Given the description of an element on the screen output the (x, y) to click on. 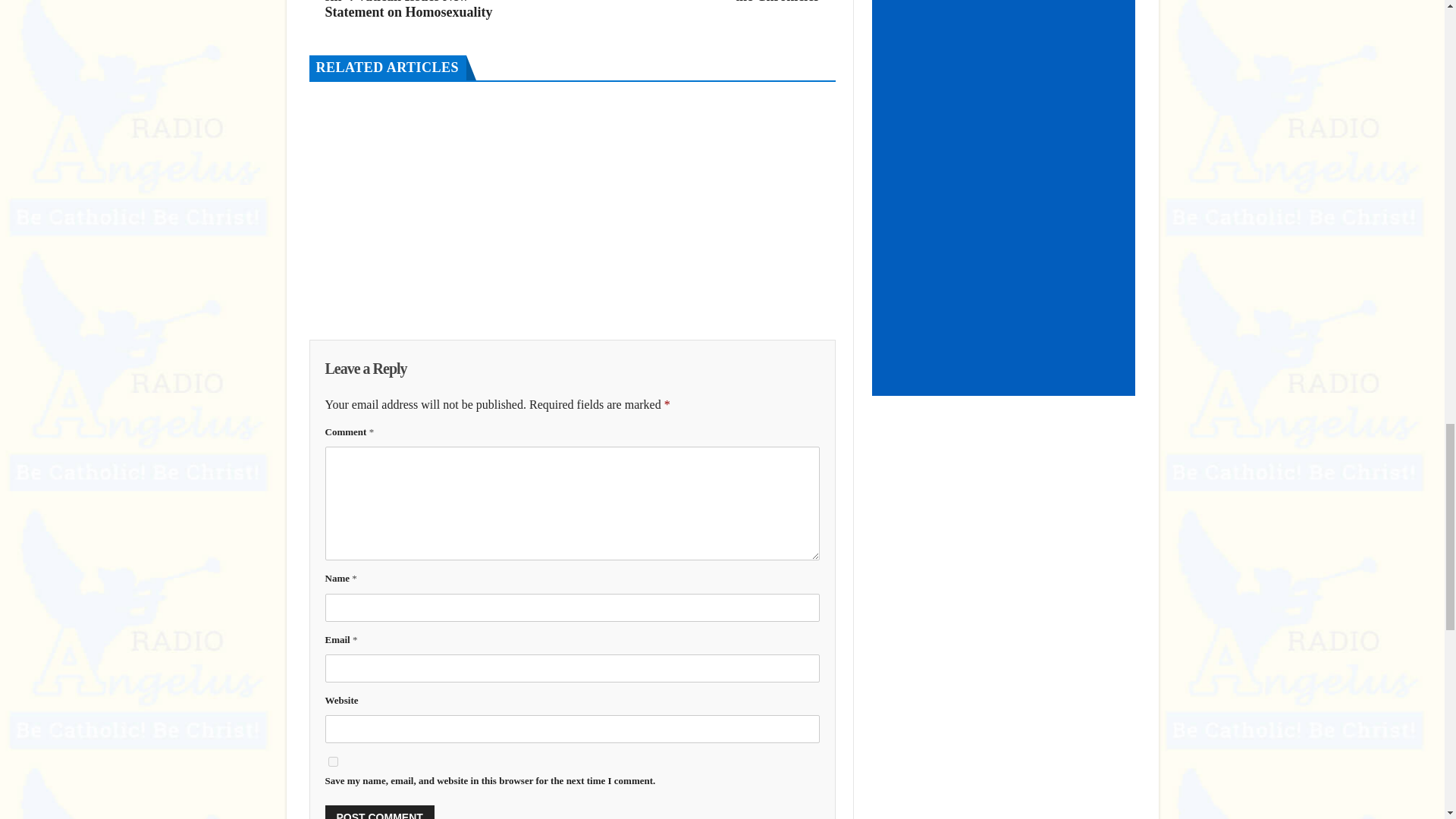
Post Comment (378, 812)
yes (332, 761)
